Given the description of an element on the screen output the (x, y) to click on. 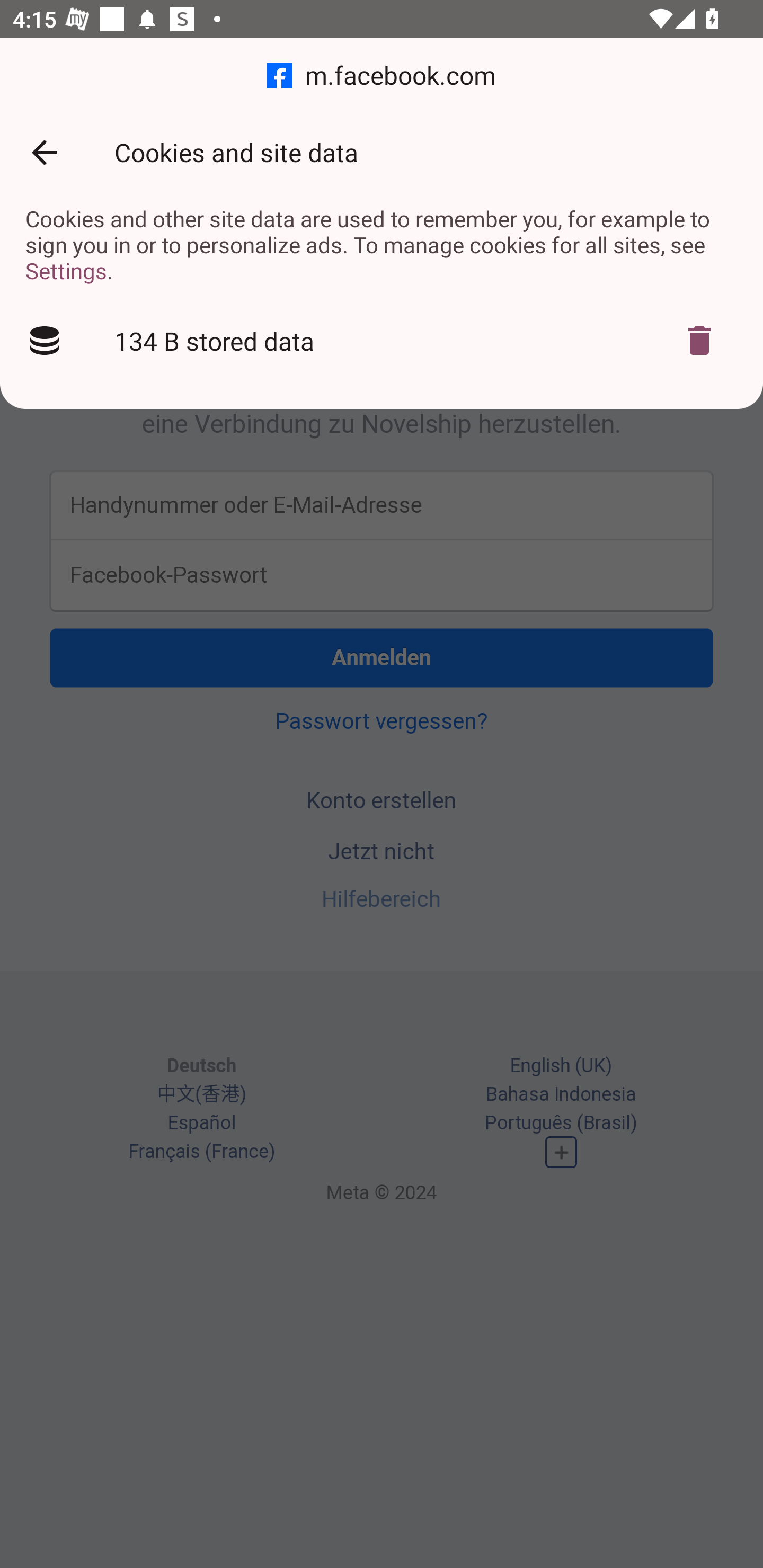
m.facebook.com (381, 75)
Back (44, 152)
134 B stored data Delete cookies? (381, 340)
